Given the description of an element on the screen output the (x, y) to click on. 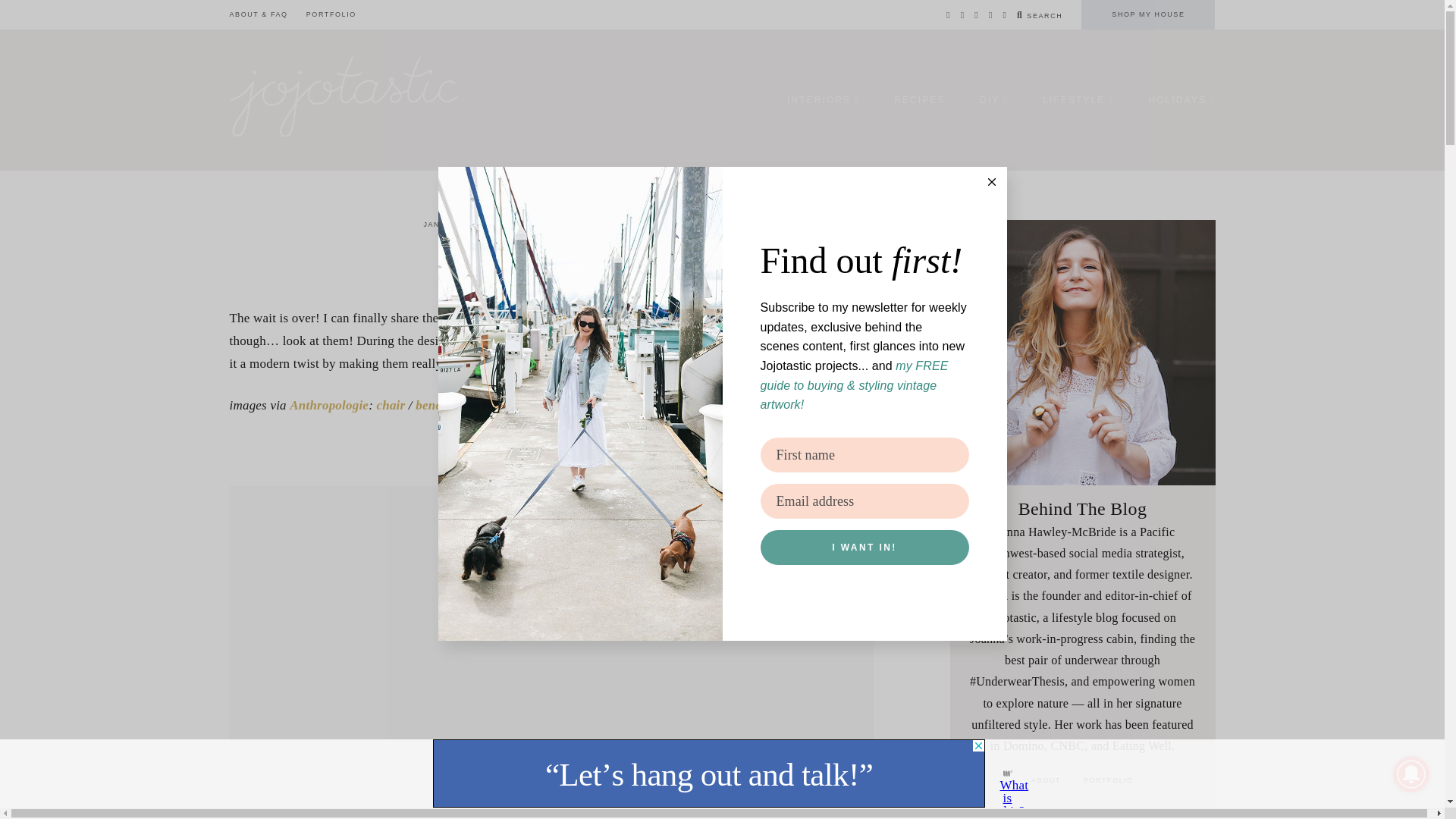
3rd party ad content (708, 773)
chair (389, 405)
View all posts in Creative Business (566, 224)
Joanna (654, 224)
3rd party ad content (551, 520)
Anthropologie (328, 405)
bench (431, 405)
